Given the description of an element on the screen output the (x, y) to click on. 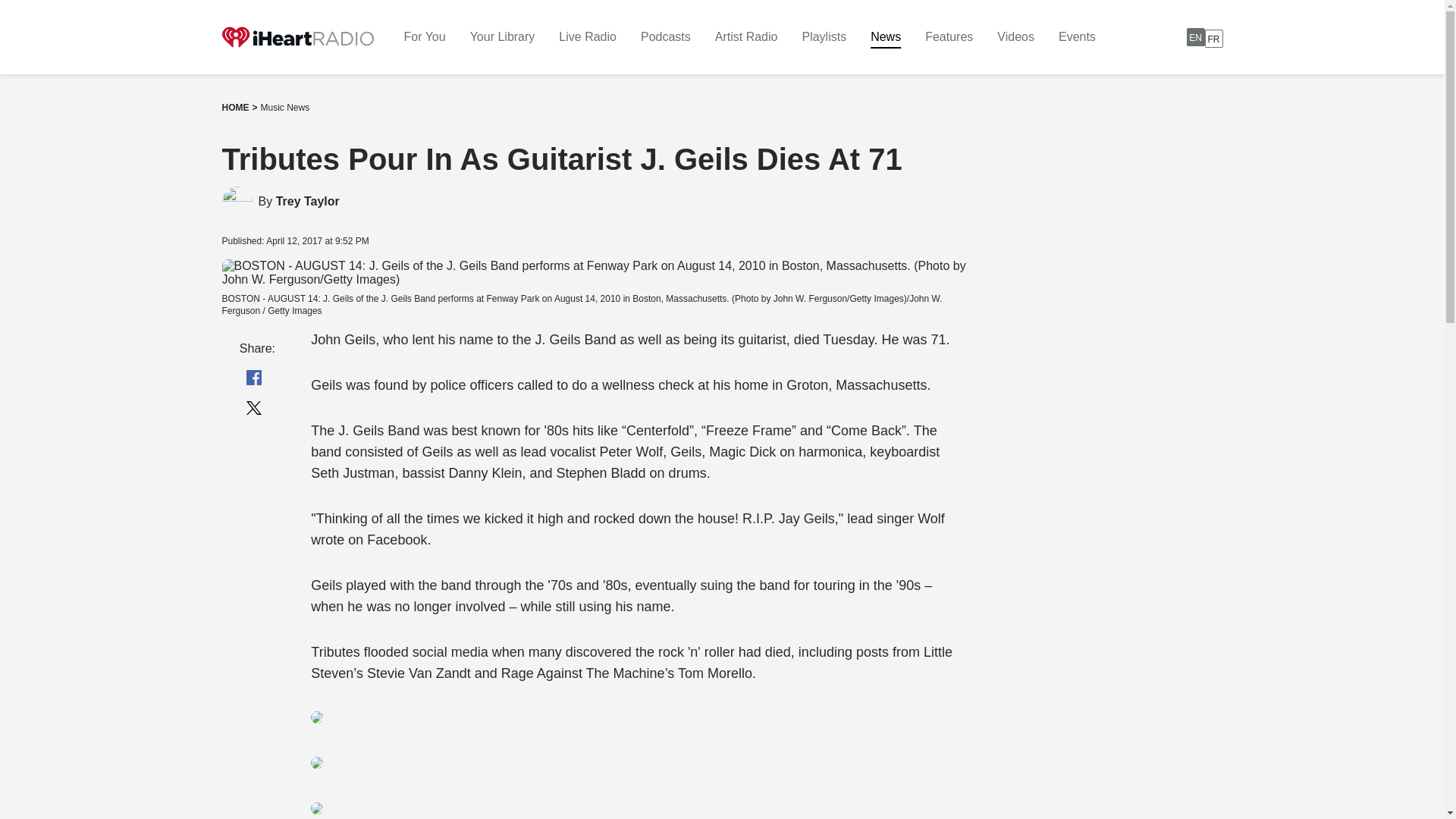
Trey Taylor (307, 201)
HOME (234, 107)
Podcasts (665, 36)
Features (1204, 36)
Your Library (948, 36)
Playlists (502, 36)
Music News (823, 36)
Artist Radio (285, 107)
Trey Taylor (745, 36)
